Given the description of an element on the screen output the (x, y) to click on. 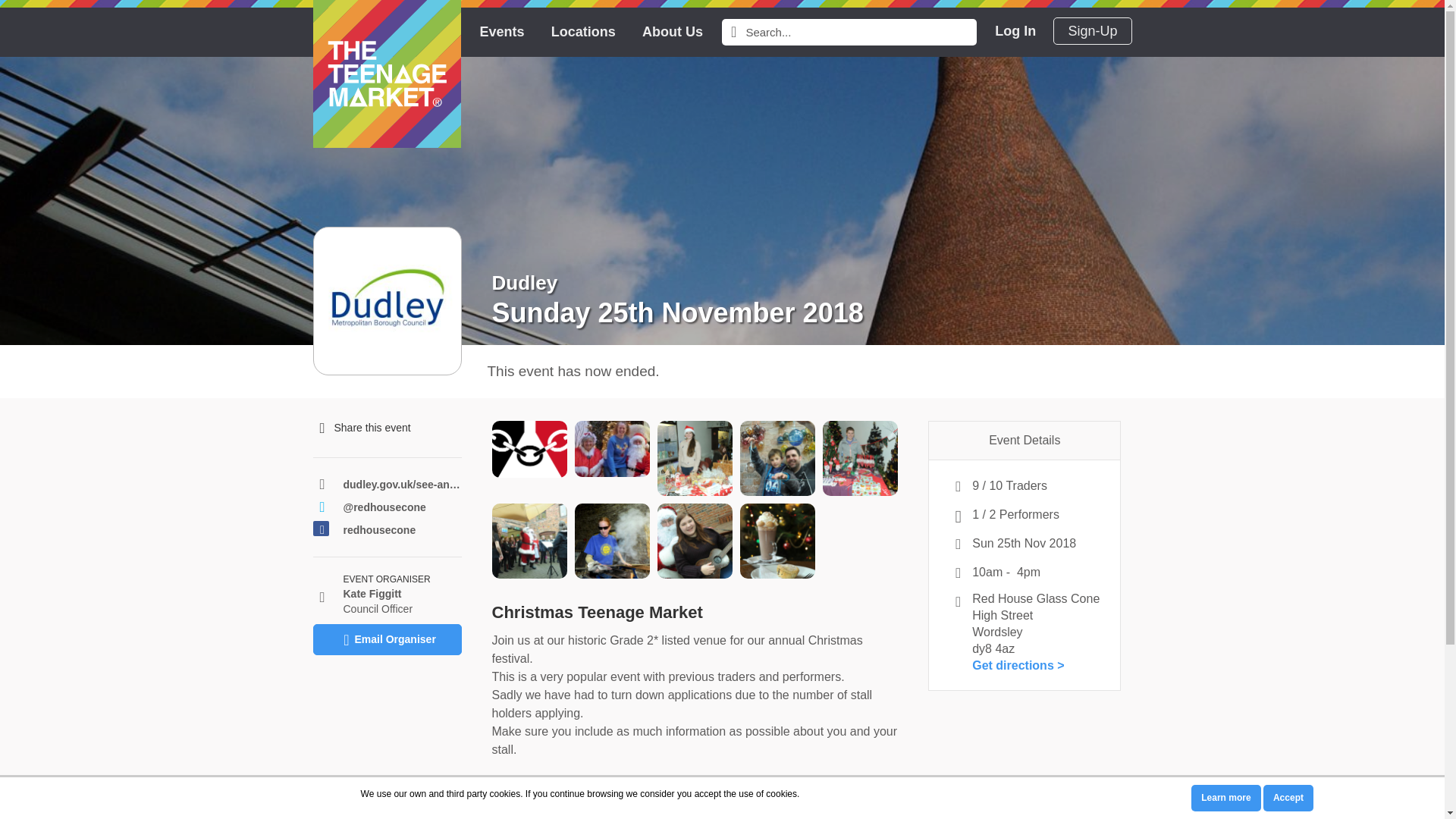
Locations (583, 31)
Events (501, 31)
Log In (1014, 30)
Email Organiser (387, 639)
Locations (583, 31)
Sign-Up (1091, 31)
Search for Events, Locations, Traders or Performers (731, 31)
Learn more (1225, 797)
Events (501, 31)
redhousecone (401, 529)
Sign-Up (1091, 31)
The Teenage Market (386, 74)
About Us (672, 31)
Accept (1288, 797)
Dudley (524, 282)
